Given the description of an element on the screen output the (x, y) to click on. 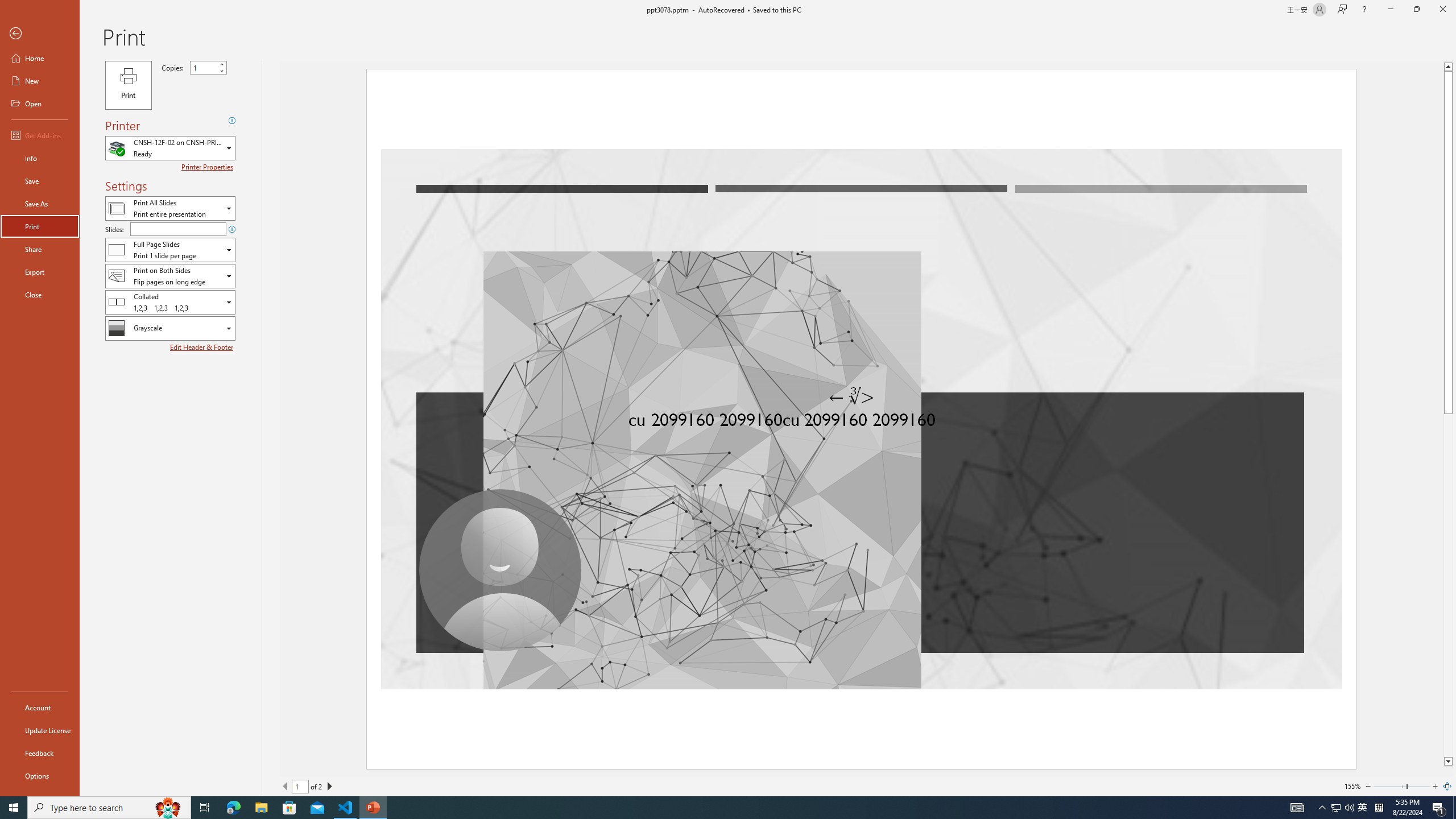
Copies (208, 67)
Collation (169, 301)
Options (40, 775)
Copies (203, 67)
New (40, 80)
Feedback (40, 753)
Which Printer (169, 147)
Account (40, 707)
Back (40, 33)
